Given the description of an element on the screen output the (x, y) to click on. 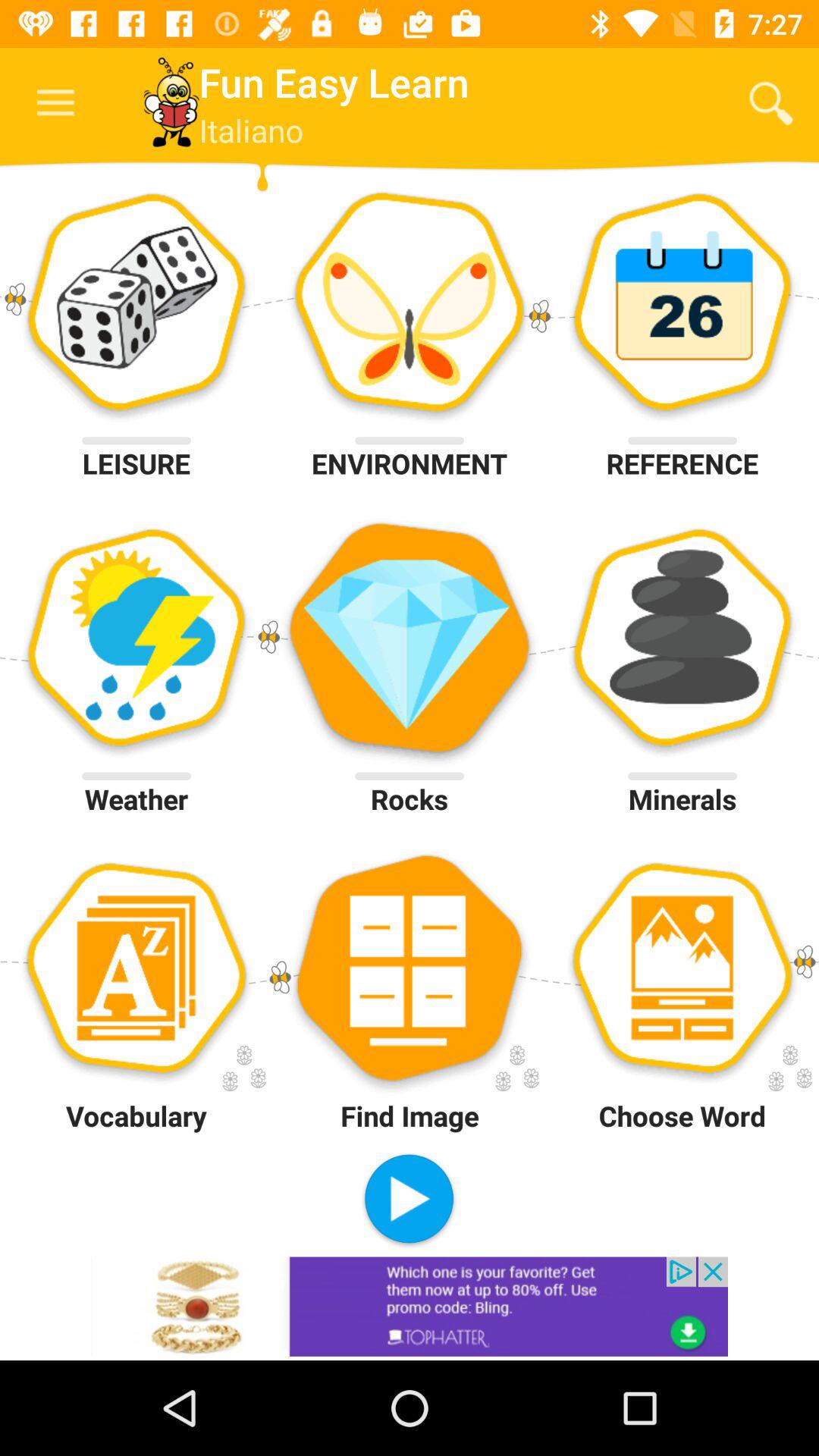
turn off item to the left of choose word icon (408, 1200)
